Given the description of an element on the screen output the (x, y) to click on. 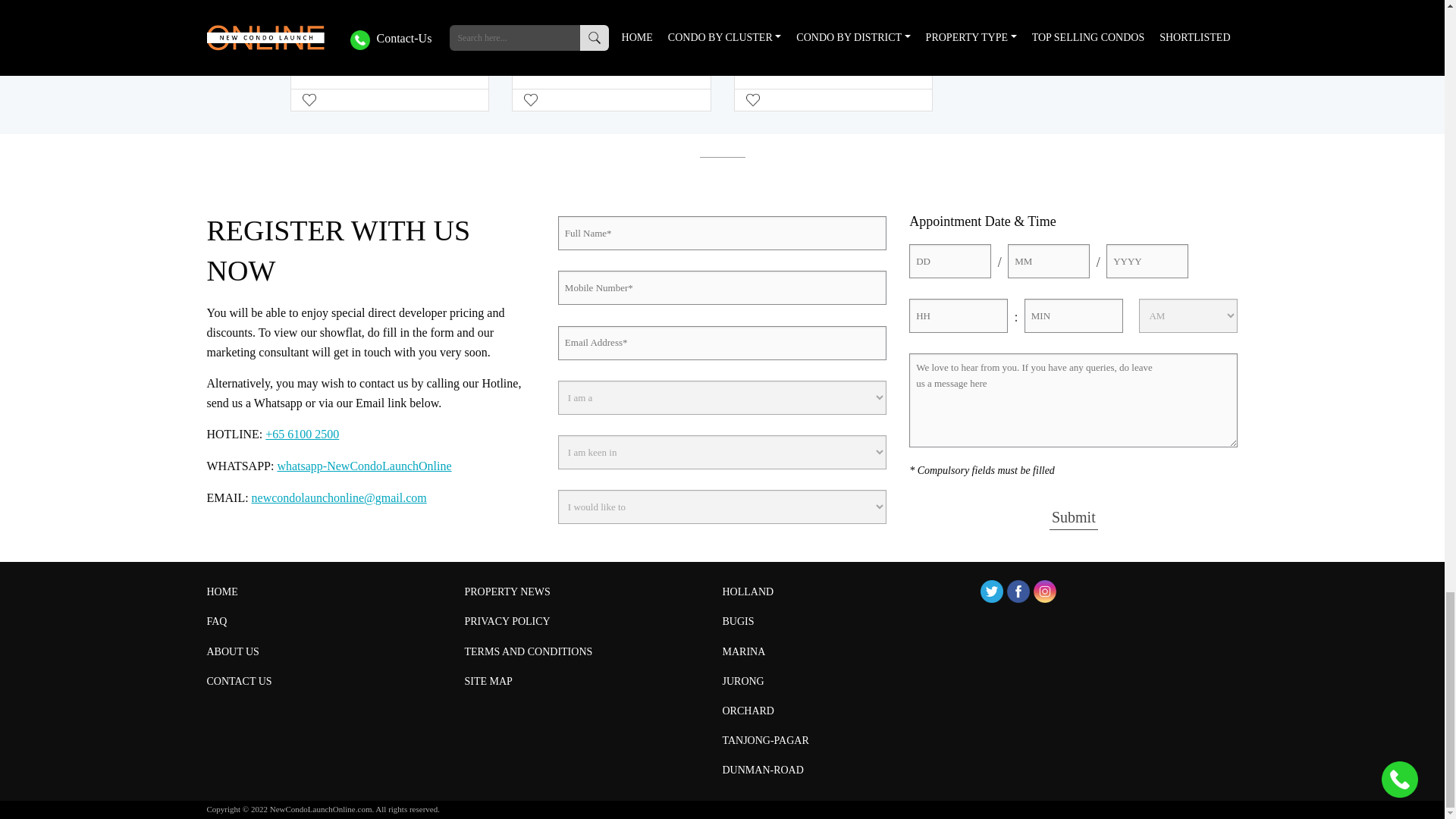
Submit (1073, 517)
